Given the description of an element on the screen output the (x, y) to click on. 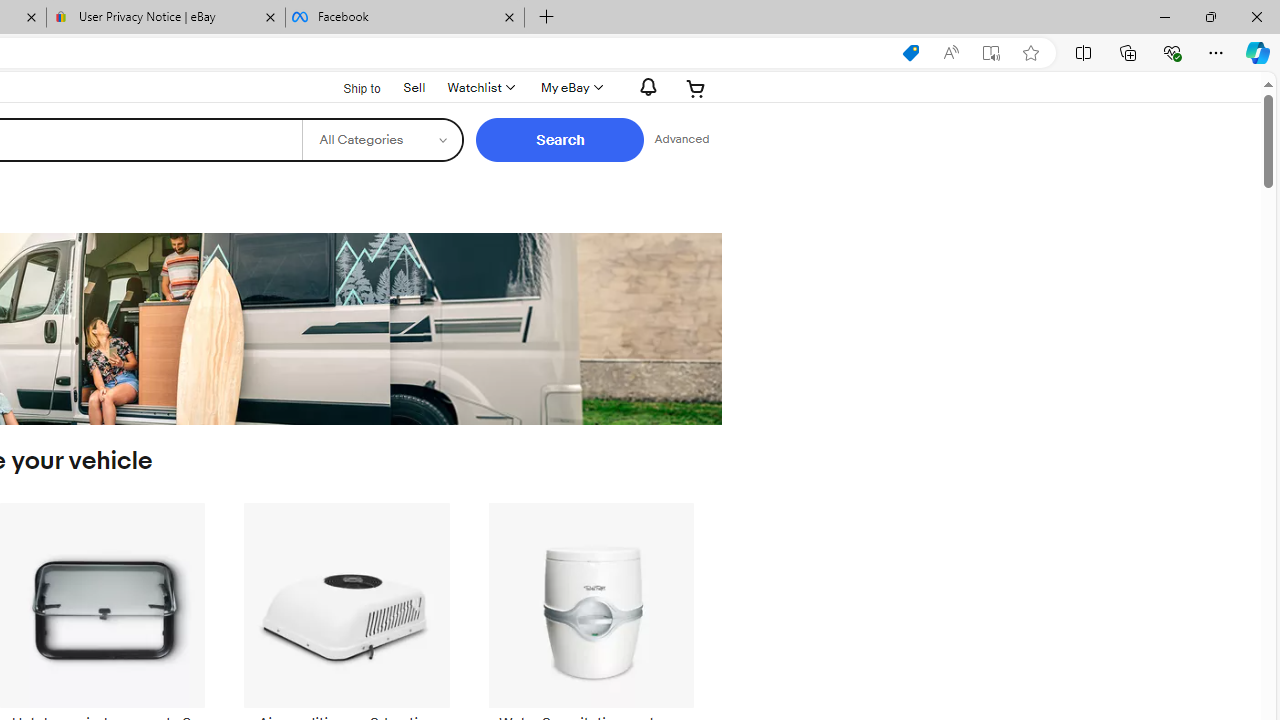
Your shopping cart (696, 88)
